Given the description of an element on the screen output the (x, y) to click on. 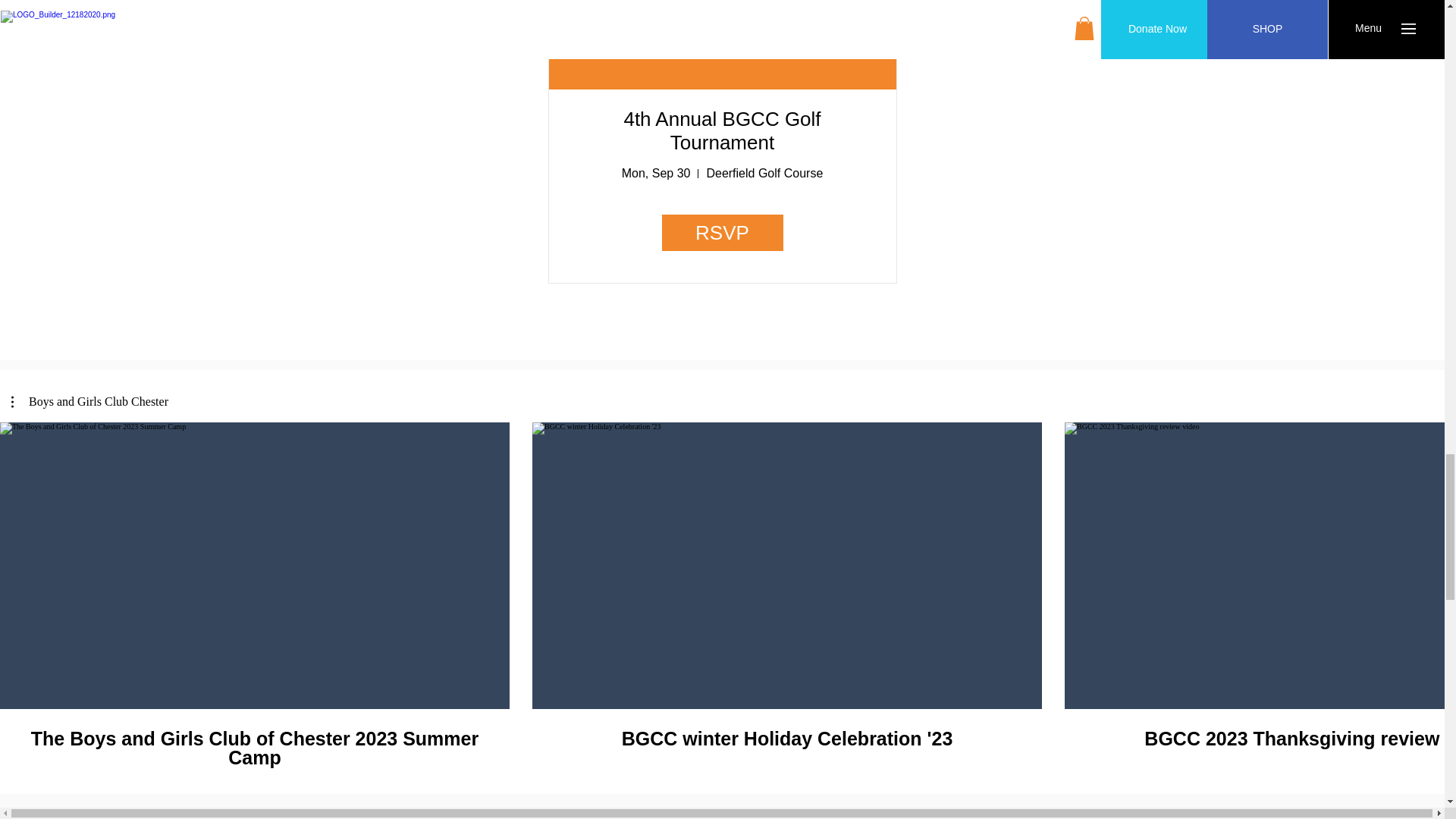
Arts and Animals at the BGCC (721, 598)
BGCC winter Holiday Celebration '23 (786, 738)
0 (691, 641)
4th Annual BGCC Golf Tournament (722, 130)
Post not marked as liked (560, 641)
0 (440, 641)
Jr. 76 Summer Hoops Tour Comes To Chester (967, 598)
RSVP (1047, 641)
Taking a Look at Black History through BGCC Programming (801, 641)
The Boys and Girls Club of Chester 2023 Summer Camp (722, 232)
0 (477, 598)
